Given the description of an element on the screen output the (x, y) to click on. 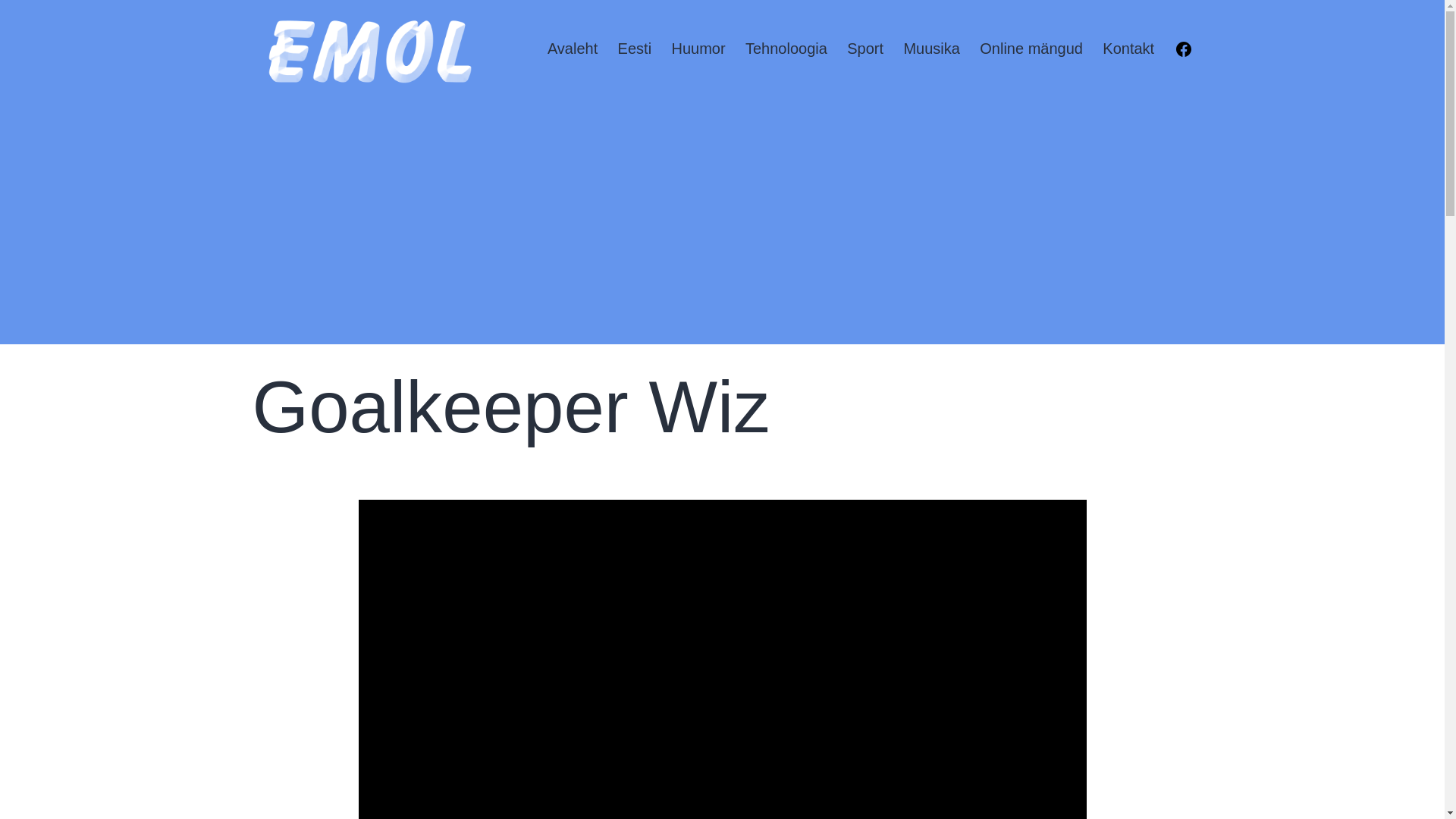
Muusika (931, 50)
Tehnoloogia (786, 50)
Eesti (634, 50)
Kontakt (1128, 50)
Avaleht (572, 50)
Huumor (698, 50)
Sport (865, 50)
